Given the description of an element on the screen output the (x, y) to click on. 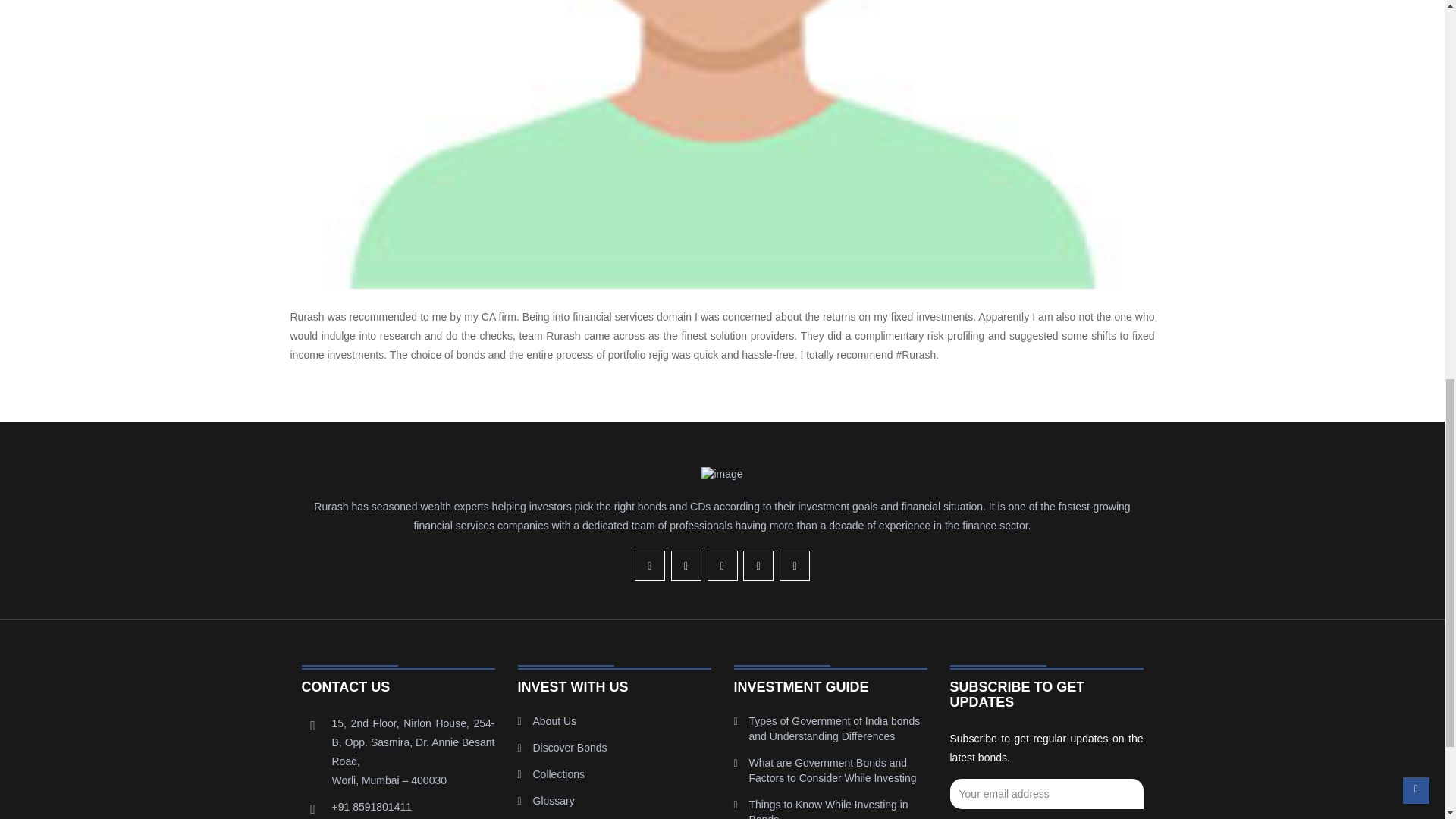
Things to Know While Investing in Bonds (828, 808)
About Us (554, 720)
Discover Bonds (569, 747)
Glossary (552, 800)
Collections (557, 774)
